Given the description of an element on the screen output the (x, y) to click on. 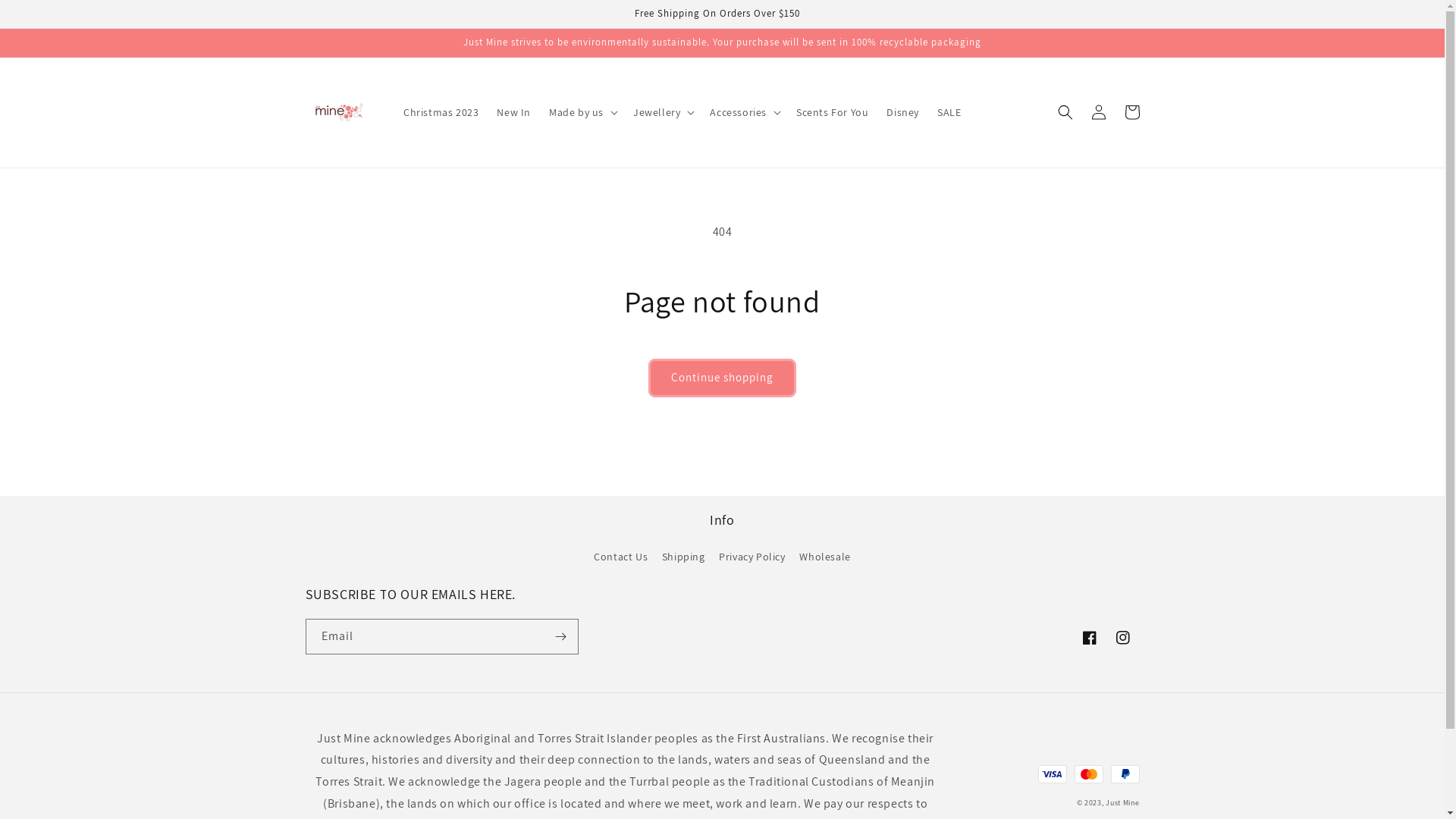
Just Mine Element type: text (1122, 802)
Privacy Policy Element type: text (751, 556)
Wholesale Element type: text (824, 556)
Disney Element type: text (902, 112)
Continue shopping Element type: text (722, 377)
Contact Us Element type: text (620, 558)
Christmas 2023 Element type: text (440, 112)
SALE Element type: text (948, 112)
Cart Element type: text (1131, 111)
Scents For You Element type: text (832, 112)
New In Element type: text (513, 112)
Instagram Element type: text (1122, 637)
Log in Element type: text (1097, 111)
Facebook Element type: text (1088, 637)
Shipping Element type: text (683, 556)
